Given the description of an element on the screen output the (x, y) to click on. 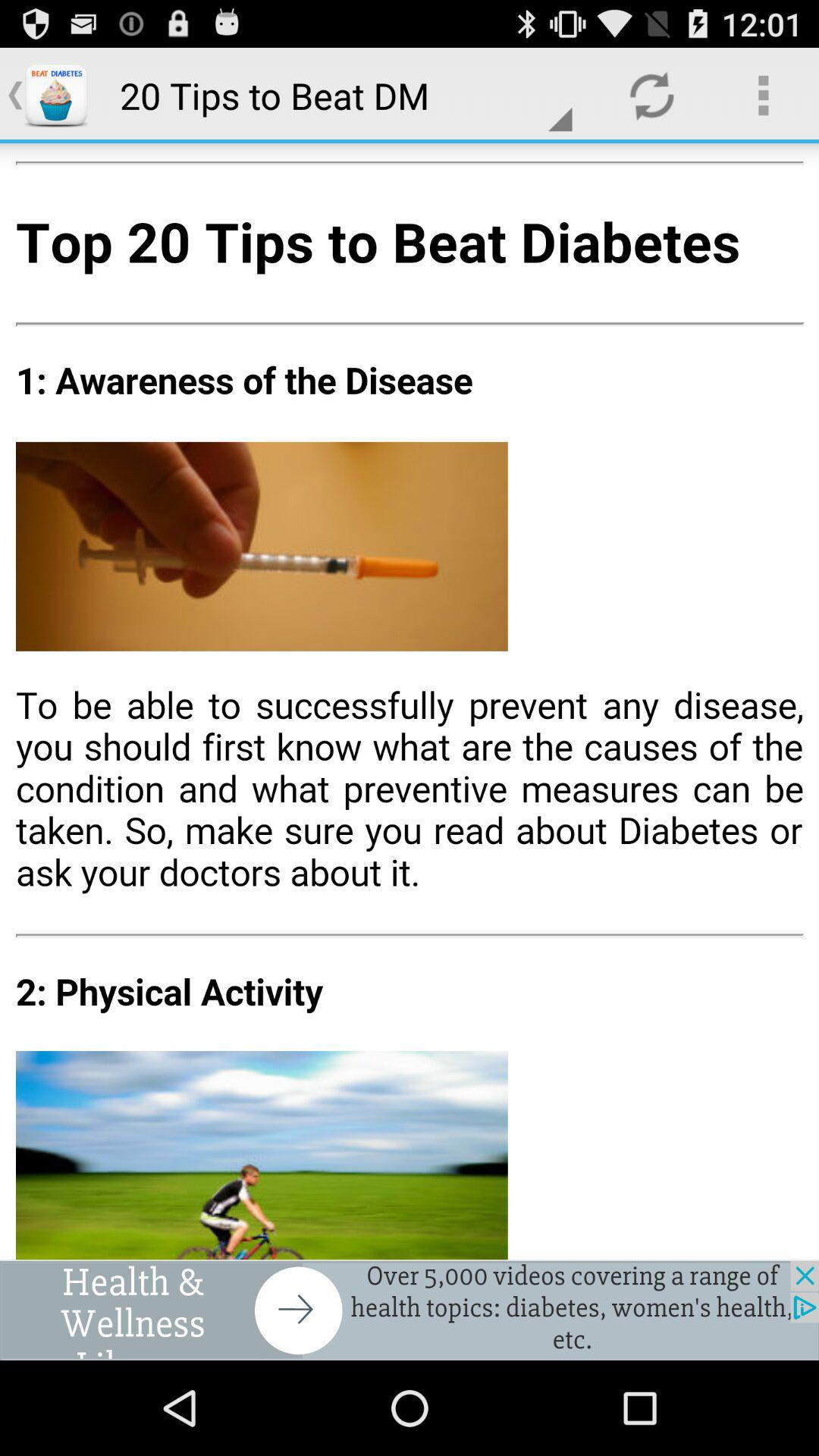
click discriiption (409, 701)
